Given the description of an element on the screen output the (x, y) to click on. 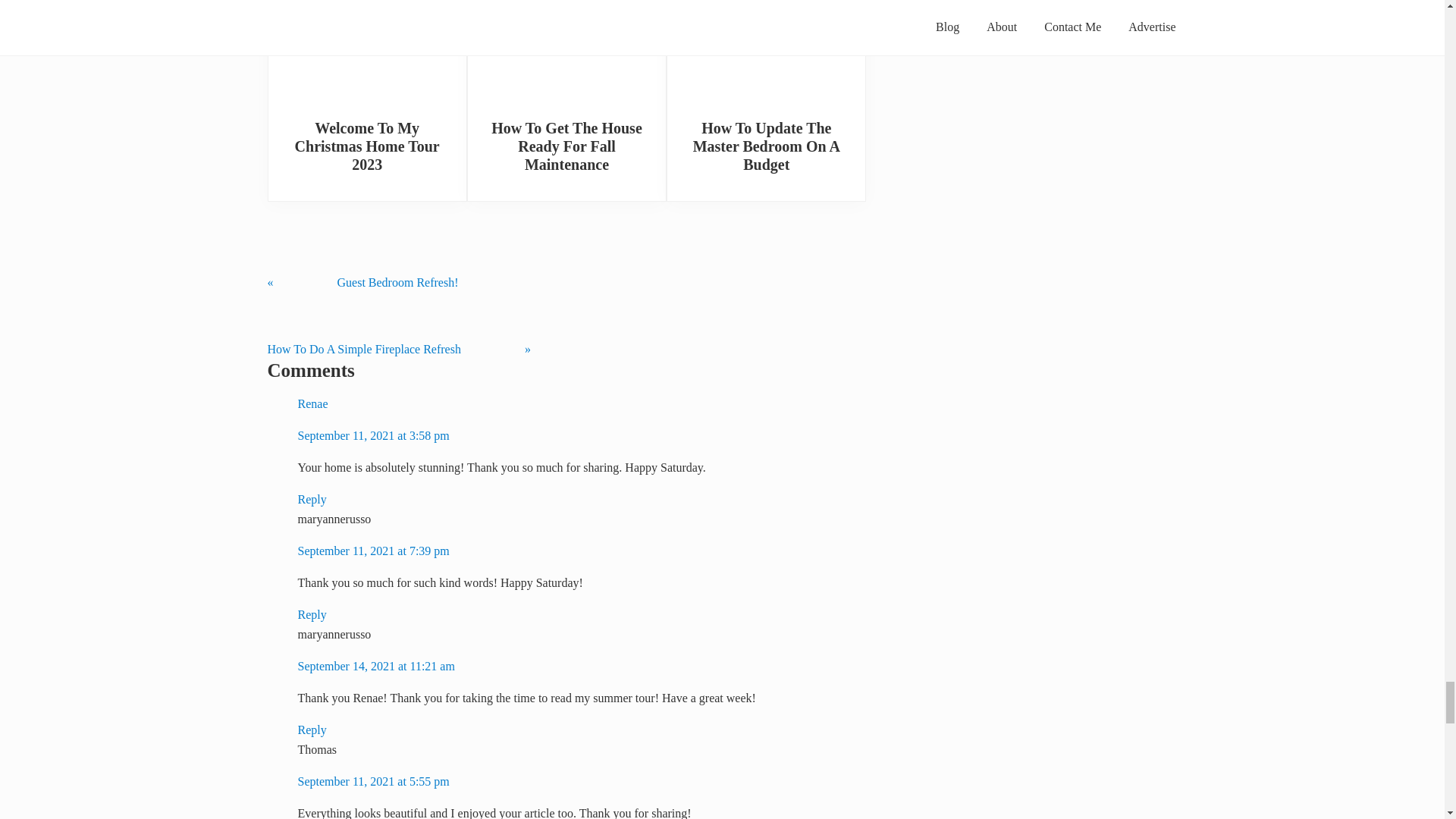
How To Get The House Ready For Fall Maintenance (567, 145)
How To Update The Master Bedroom On A Budget (766, 52)
How To Update The Master Bedroom On A Budget (766, 145)
How To Get The House Ready For Fall Maintenance (566, 52)
Welcome To My Christmas Home Tour 2023 (365, 52)
Welcome To My Christmas Home Tour 2023 (367, 145)
